Given the description of an element on the screen output the (x, y) to click on. 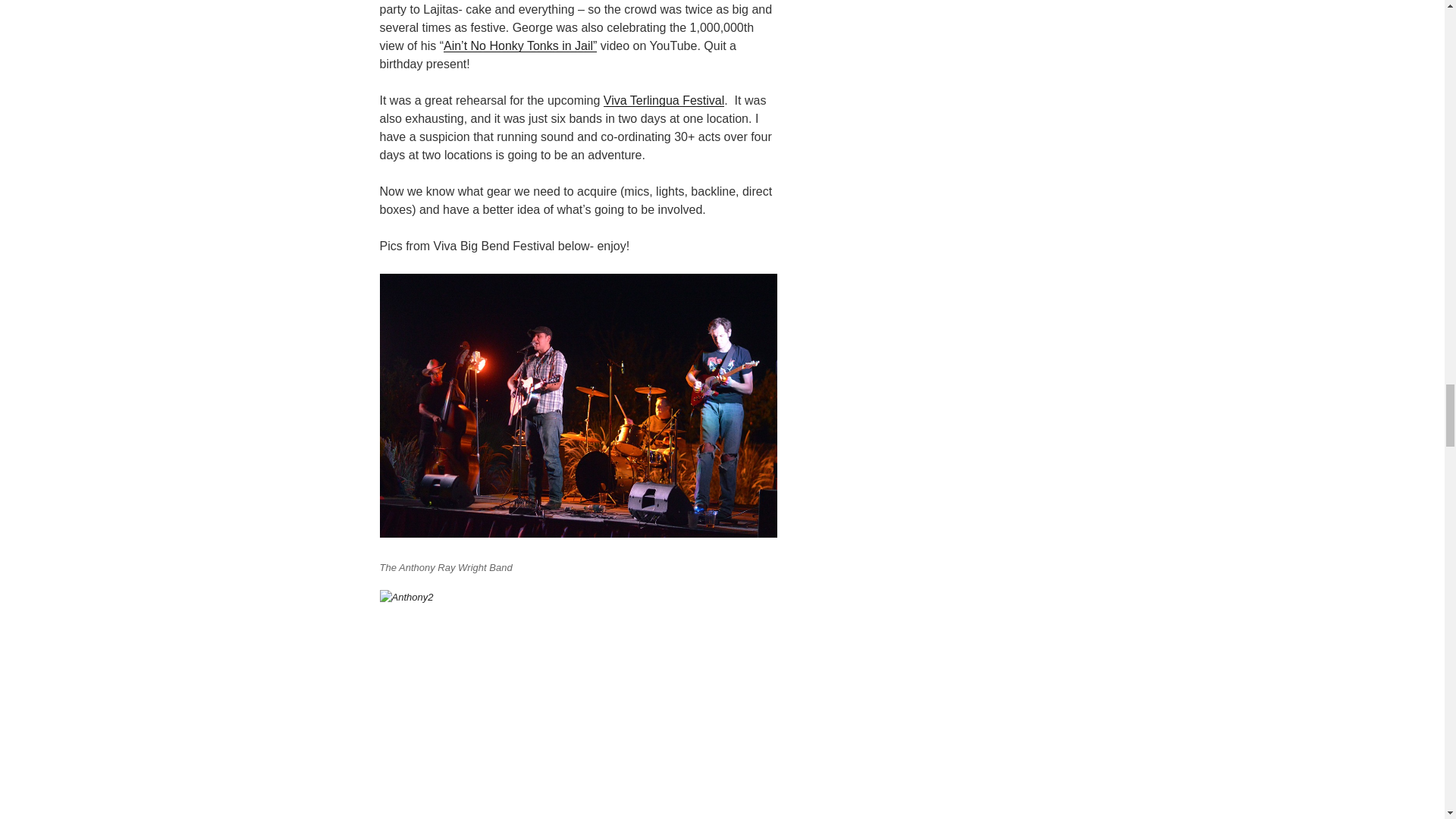
Viva Terlingua Festival (664, 100)
